Given the description of an element on the screen output the (x, y) to click on. 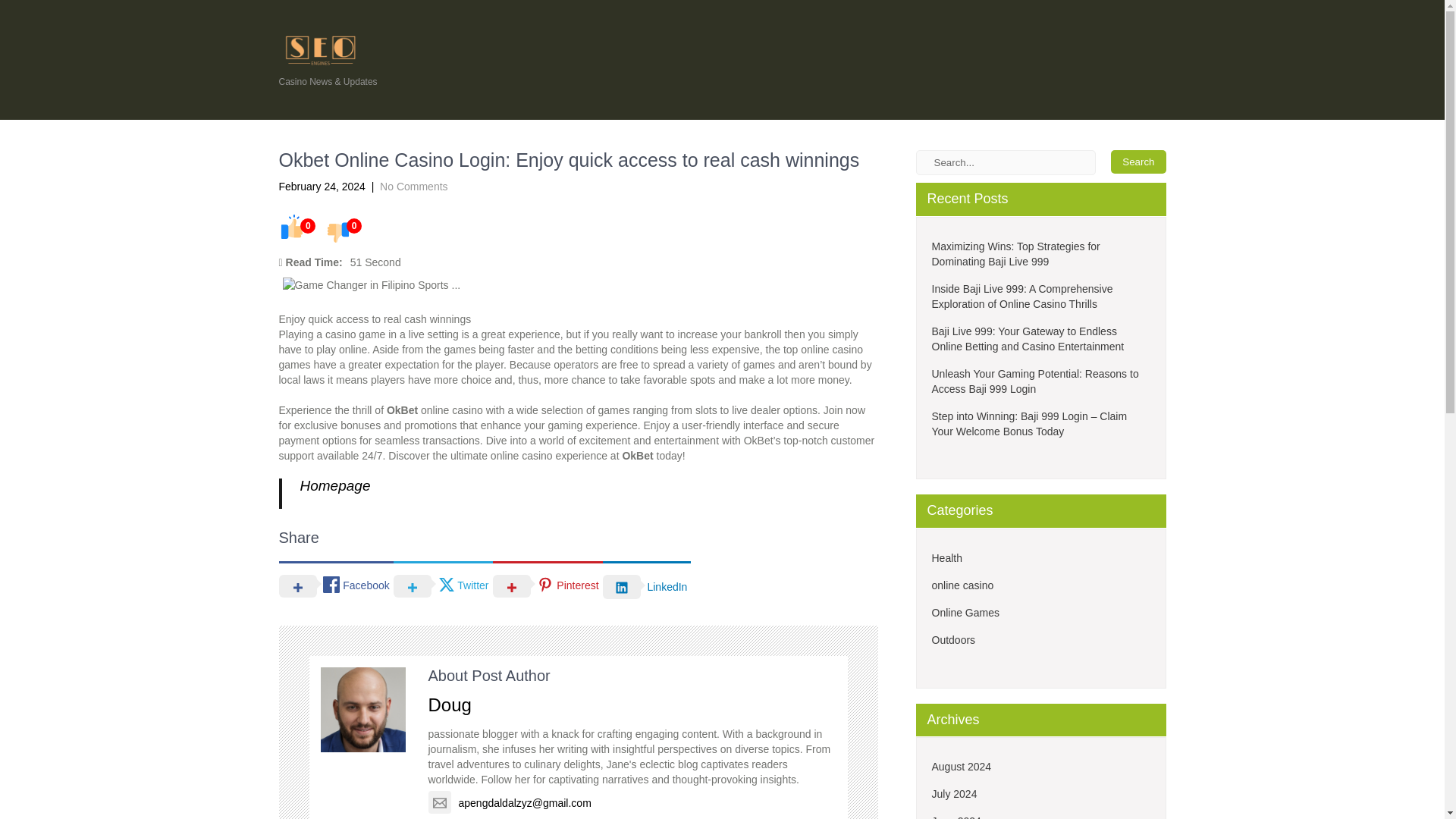
LinkedIn (646, 585)
Facebook (336, 585)
Maximizing Wins: Top Strategies for Dominating Baji Live 999 (1040, 254)
Homepage (335, 485)
No Comments (413, 186)
Search (1138, 161)
Doug (449, 704)
Twitter (443, 585)
Pinterest (547, 585)
Search (1138, 161)
Search (1138, 161)
